Given the description of an element on the screen output the (x, y) to click on. 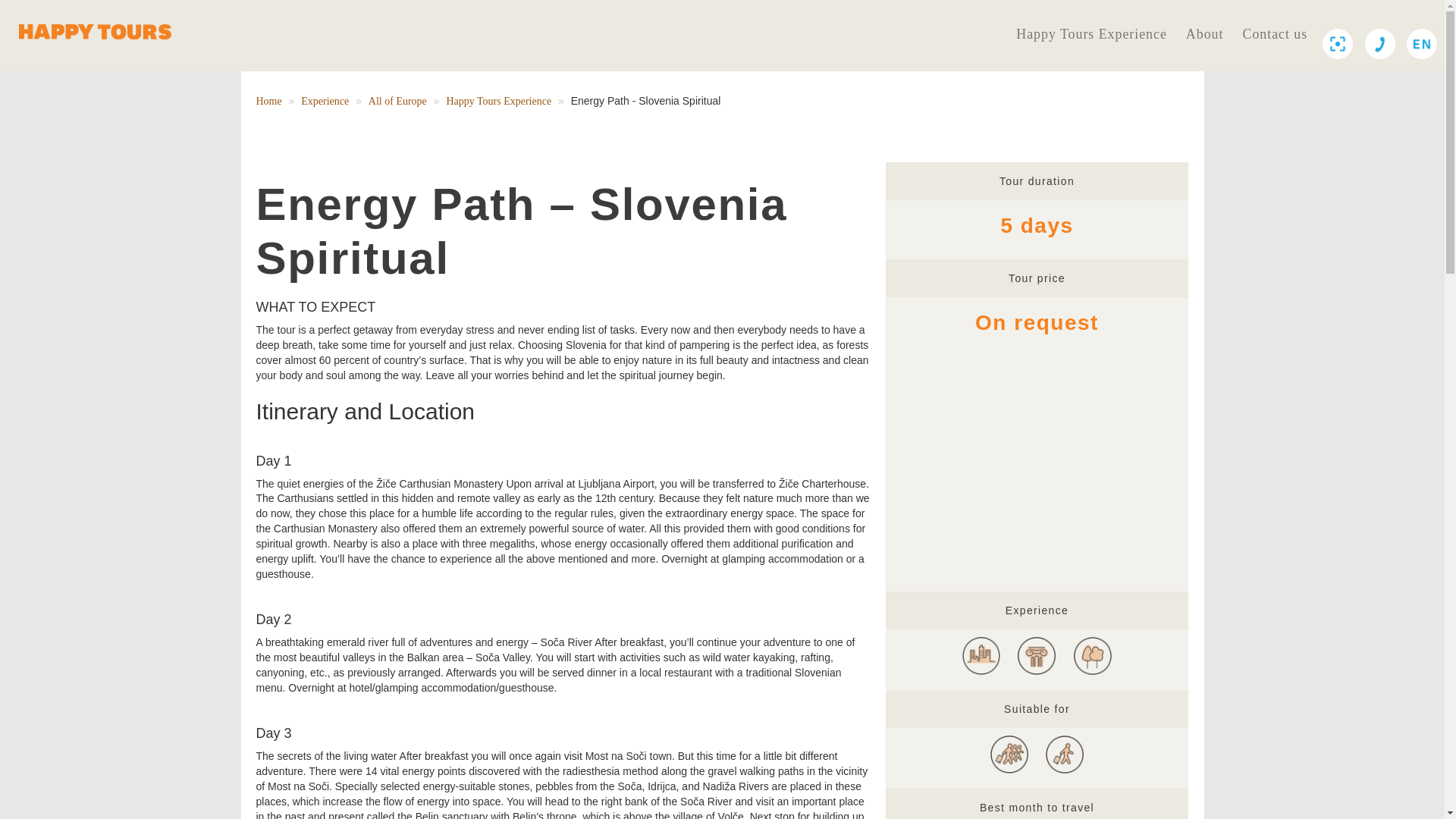
Experience (325, 101)
All of Europe (397, 101)
Home (269, 101)
About (1205, 34)
Contact us (1274, 34)
Happy Tours Experience (1091, 34)
Happy Tours Experience (498, 101)
